Given the description of an element on the screen output the (x, y) to click on. 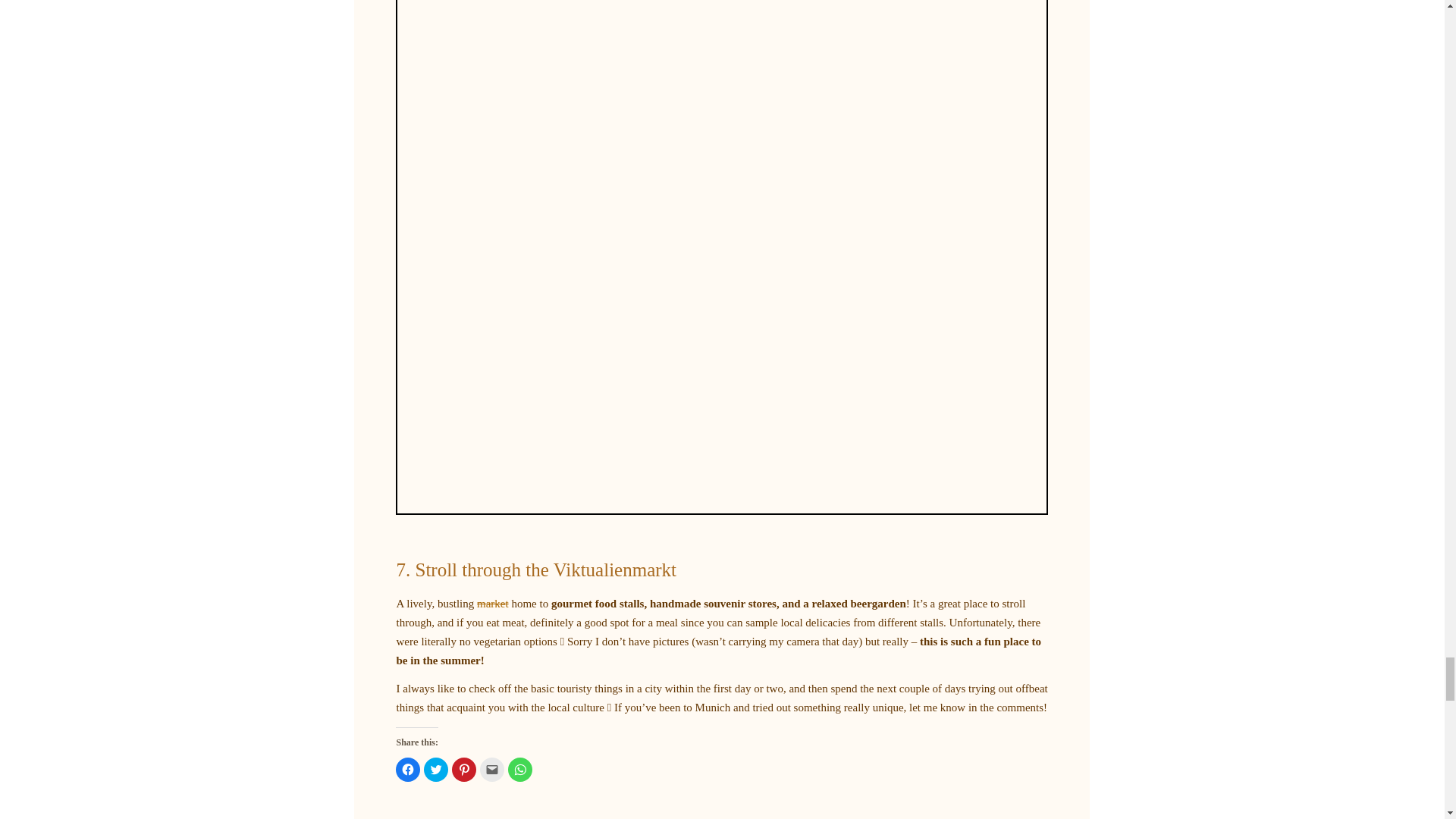
Click to share on Facebook (408, 768)
Click to share on Pinterest (463, 768)
Click to share on WhatsApp (520, 768)
Click to email a link to a friend (491, 768)
Click to share on Twitter (435, 768)
